Given the description of an element on the screen output the (x, y) to click on. 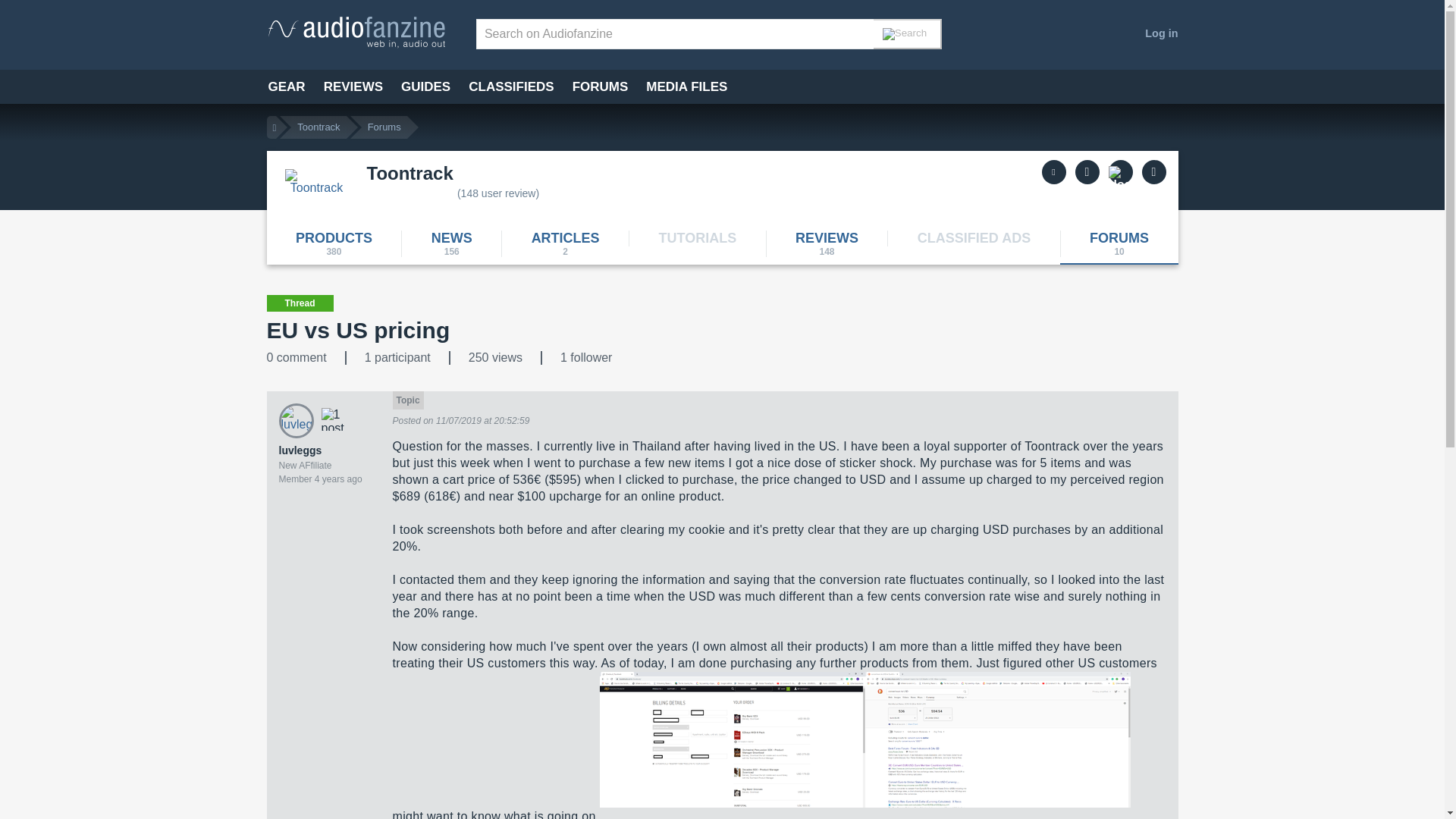
List of the 380 Toontrack products (333, 243)
View luvleggs's member profile (296, 423)
CLASSIFIEDS (511, 86)
Toontrack (317, 191)
FORUMS (600, 86)
148 user reviews on Toontrack products (826, 243)
Forums (384, 127)
10 discussions in the forums about Toontrack (1118, 243)
Search (907, 33)
2 featured articles about Toontrack or on Toontrack products (564, 243)
